Given the description of an element on the screen output the (x, y) to click on. 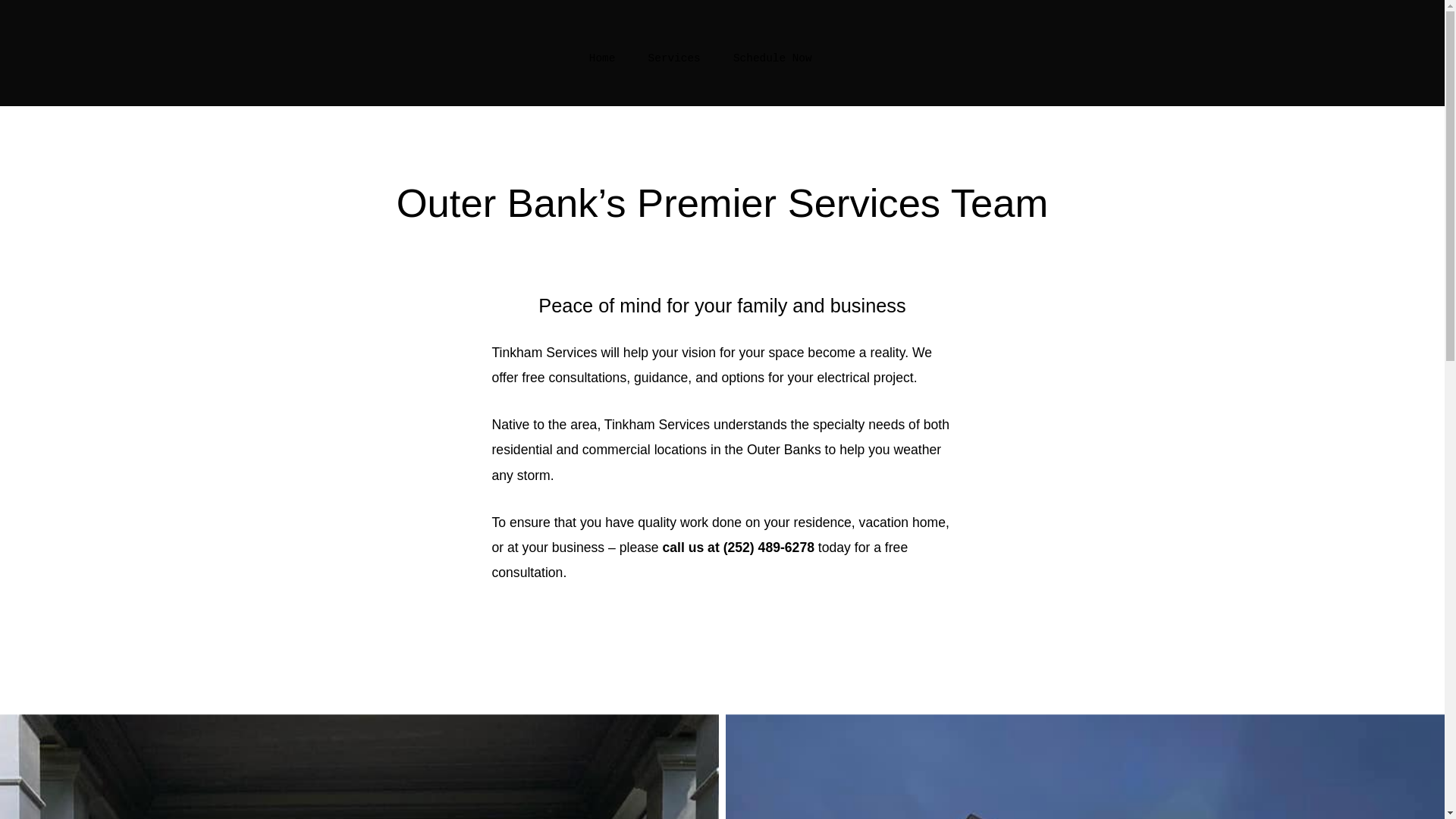
Services (673, 58)
Home (602, 58)
Schedule Now (772, 58)
